Given the description of an element on the screen output the (x, y) to click on. 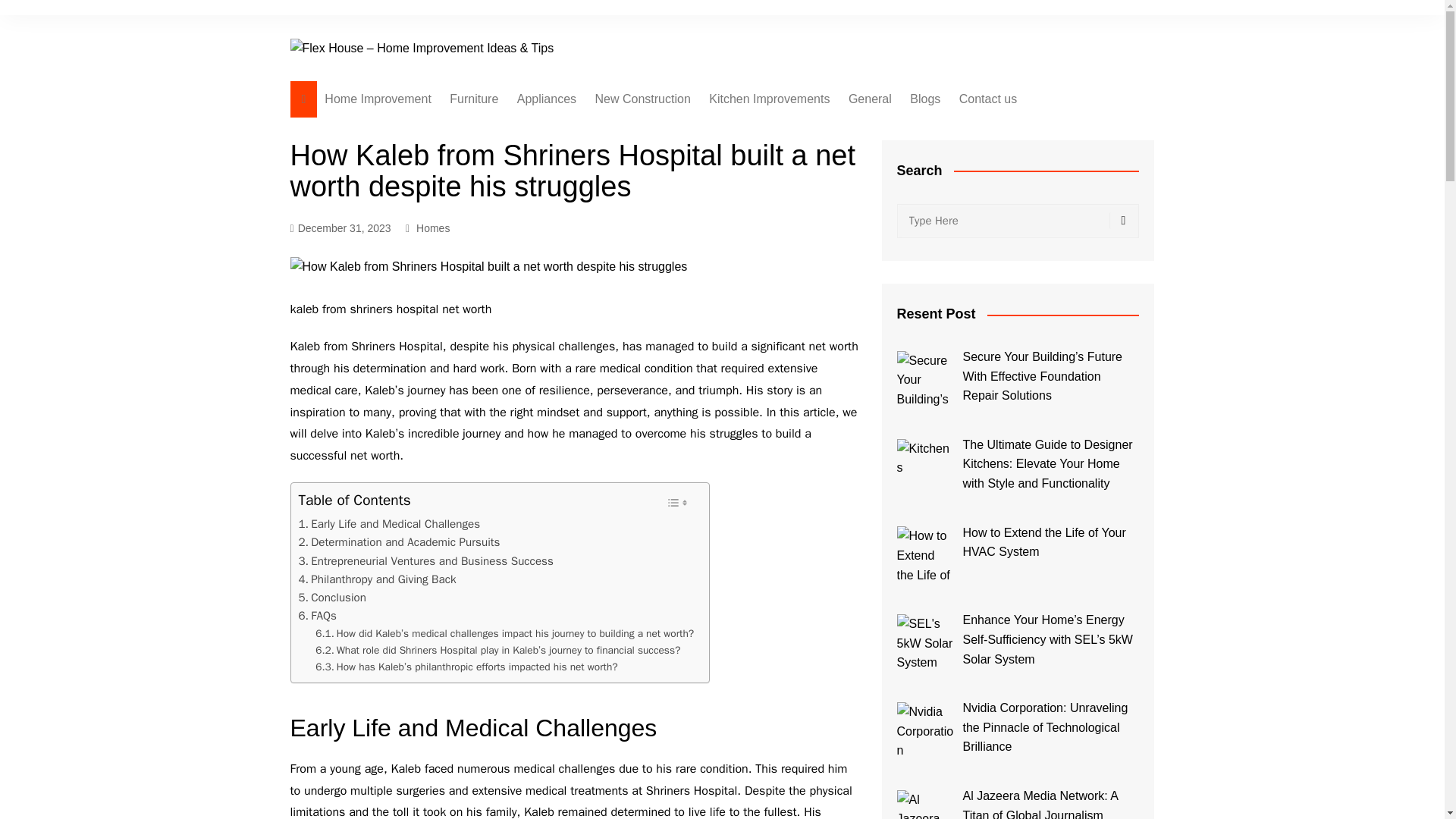
Blogs (924, 99)
Cleaning Tips and Tools (593, 192)
Early Life and Medical Challenges (389, 524)
Homes (432, 228)
Home Inspections (671, 129)
FAQs (317, 615)
DIY (671, 317)
Conclusion (332, 597)
Real Estate Business (671, 242)
